Given the description of an element on the screen output the (x, y) to click on. 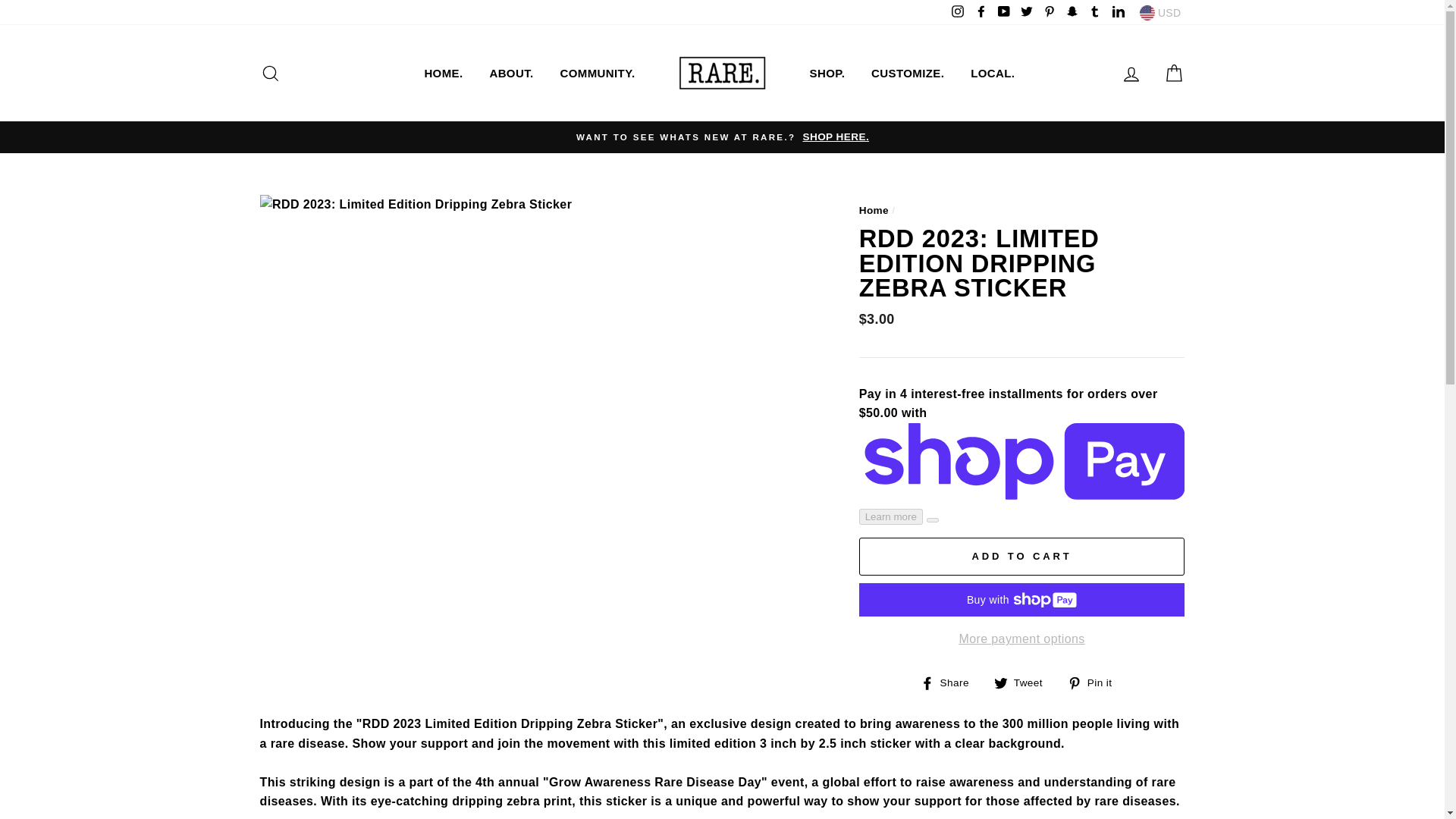
Pin on Pinterest (1094, 682)
USD (1160, 12)
Tweet on Twitter (1024, 682)
Search (269, 72)
Back to the frontpage (873, 210)
Share on Facebook (949, 682)
